Given the description of an element on the screen output the (x, y) to click on. 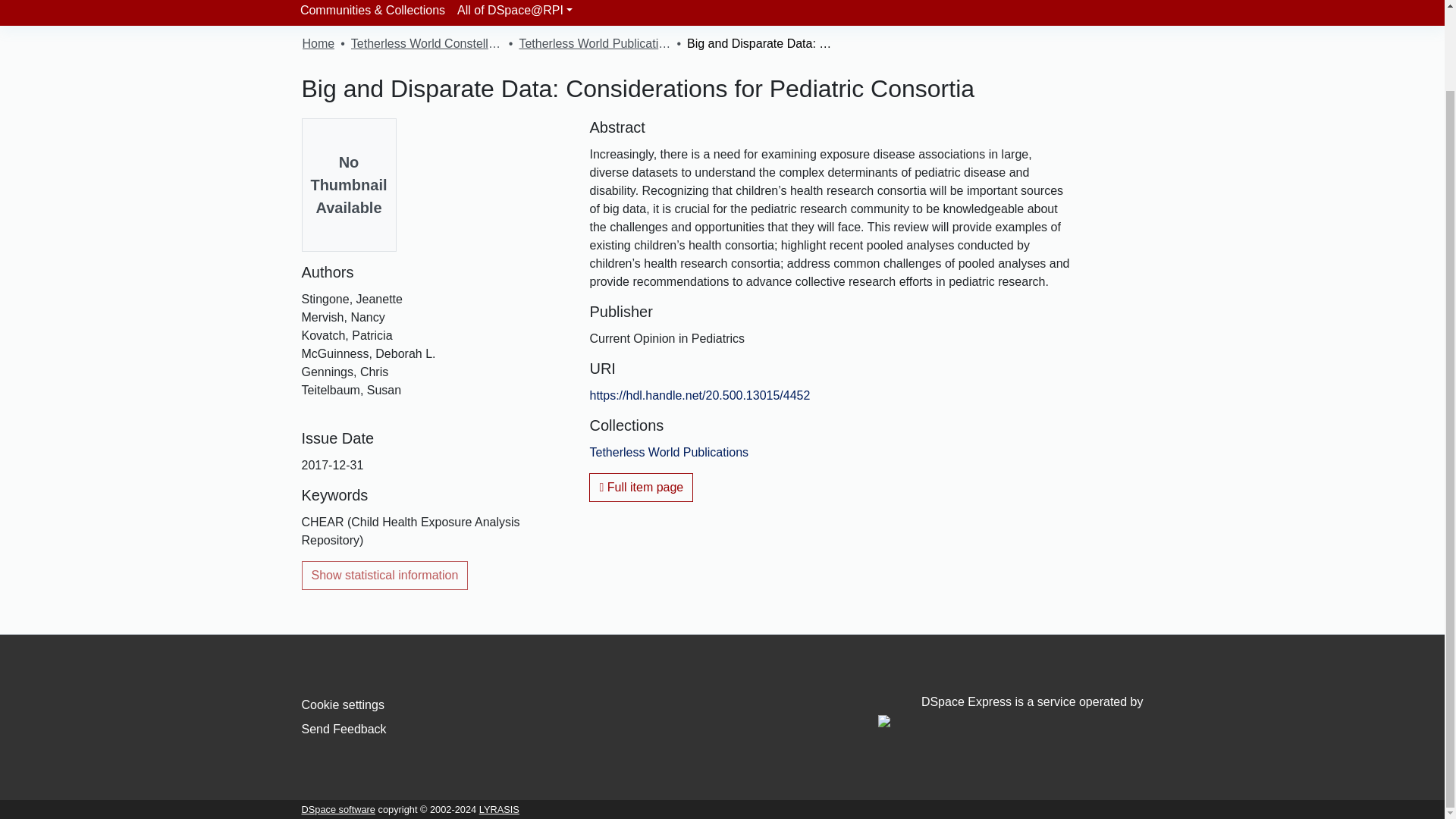
Tetherless World Publications (668, 451)
Tetherless World Constellation (426, 44)
Send Feedback (344, 728)
Cookie settings (342, 704)
Home (317, 44)
Full item page (641, 487)
LYRASIS (499, 808)
Show statistical information (384, 575)
DSpace Express is a service operated by (1009, 711)
DSpace software (338, 808)
Tetherless World Publications (593, 44)
